Given the description of an element on the screen output the (x, y) to click on. 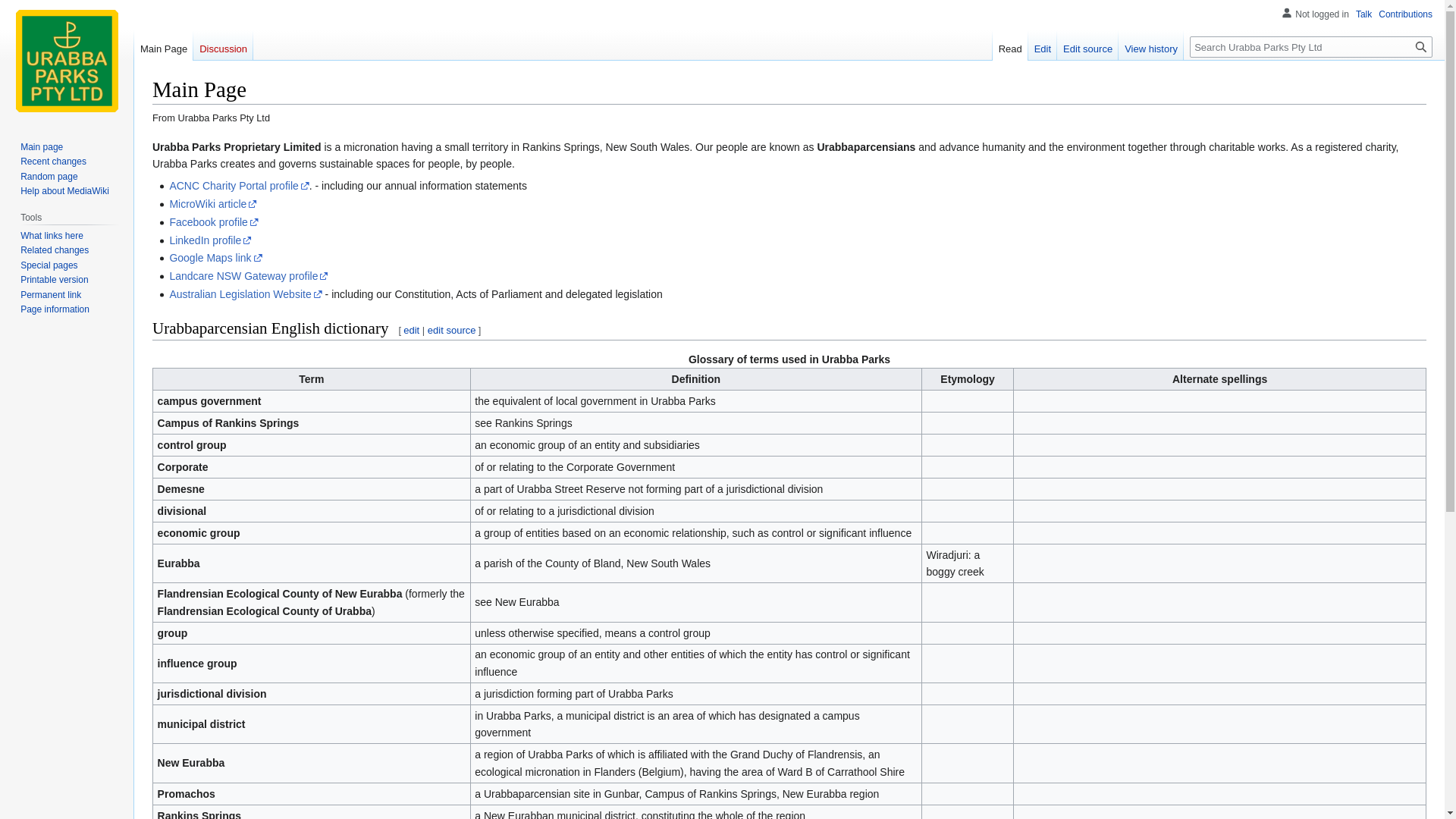
Landcare NSW Gateway profile Element type: text (248, 275)
Facebook profile Element type: text (213, 222)
Read Element type: text (1010, 45)
Special pages Element type: text (48, 265)
Edit Element type: text (1042, 45)
Recent changes Element type: text (53, 161)
Search the pages for this text Element type: hover (1420, 46)
Talk Element type: text (1363, 14)
Australian Legislation Website Element type: text (245, 294)
MicroWiki article Element type: text (213, 203)
ACNC Charity Portal profile Element type: text (238, 185)
LinkedIn profile Element type: text (210, 240)
edit source Element type: text (451, 329)
What links here Element type: text (51, 235)
Help about MediaWiki Element type: text (64, 190)
Main page Element type: text (41, 146)
edit Element type: text (411, 329)
Permanent link Element type: text (50, 294)
Related changes Element type: text (54, 249)
Edit source Element type: text (1087, 45)
Printable version Element type: text (53, 279)
Discussion Element type: text (223, 45)
Random page Element type: text (48, 176)
Main Page Element type: text (163, 45)
Visit the main page Element type: hover (66, 60)
Contributions Element type: text (1405, 14)
View history Element type: text (1150, 45)
Search Urabba Parks Pty Ltd [alt-shift-f] Element type: hover (1310, 46)
Google Maps link Element type: text (215, 257)
Jump to navigation Element type: text (151, 138)
Search Element type: text (1420, 46)
Page information Element type: text (54, 309)
